Given the description of an element on the screen output the (x, y) to click on. 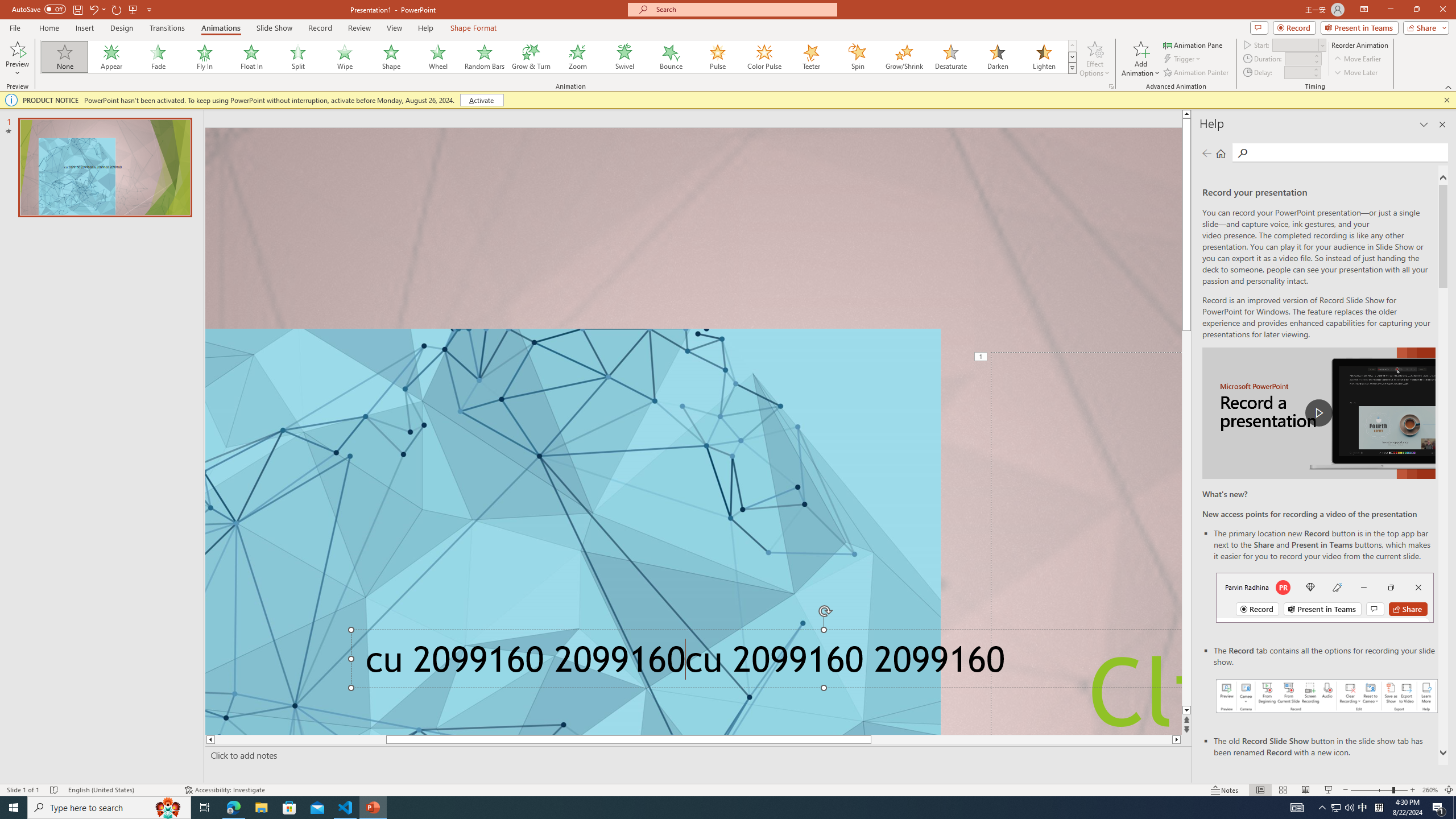
Activate (481, 100)
Wheel (437, 56)
TextBox 61 (762, 663)
Zoom 260% (1430, 790)
